Given the description of an element on the screen output the (x, y) to click on. 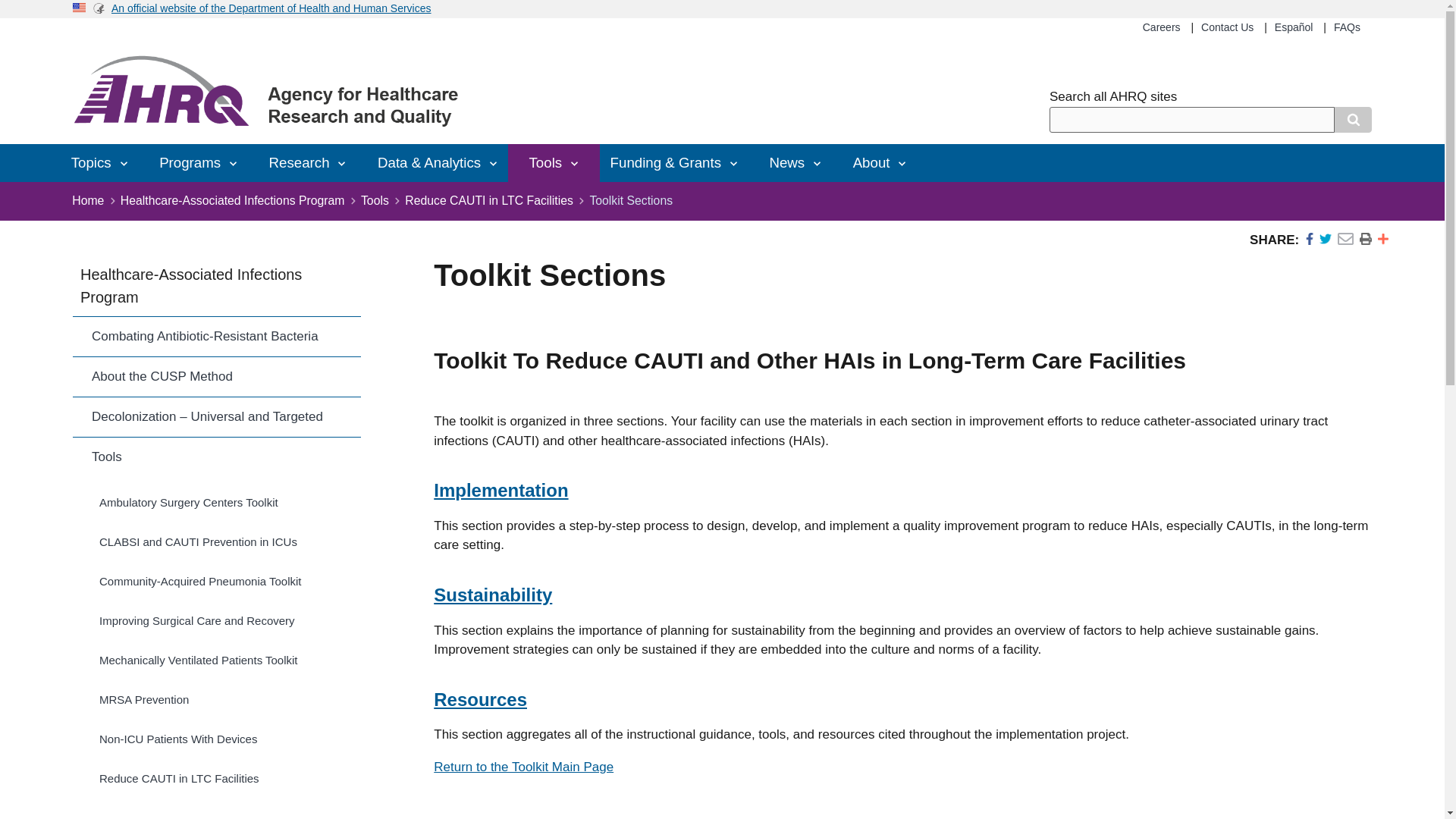
FAQs (1346, 27)
Programs (198, 162)
Research (307, 162)
Careers (1161, 27)
Contact Us (1227, 27)
Topics (99, 162)
About (879, 162)
Skip to main content (721, 1)
Tools (552, 162)
